Given the description of an element on the screen output the (x, y) to click on. 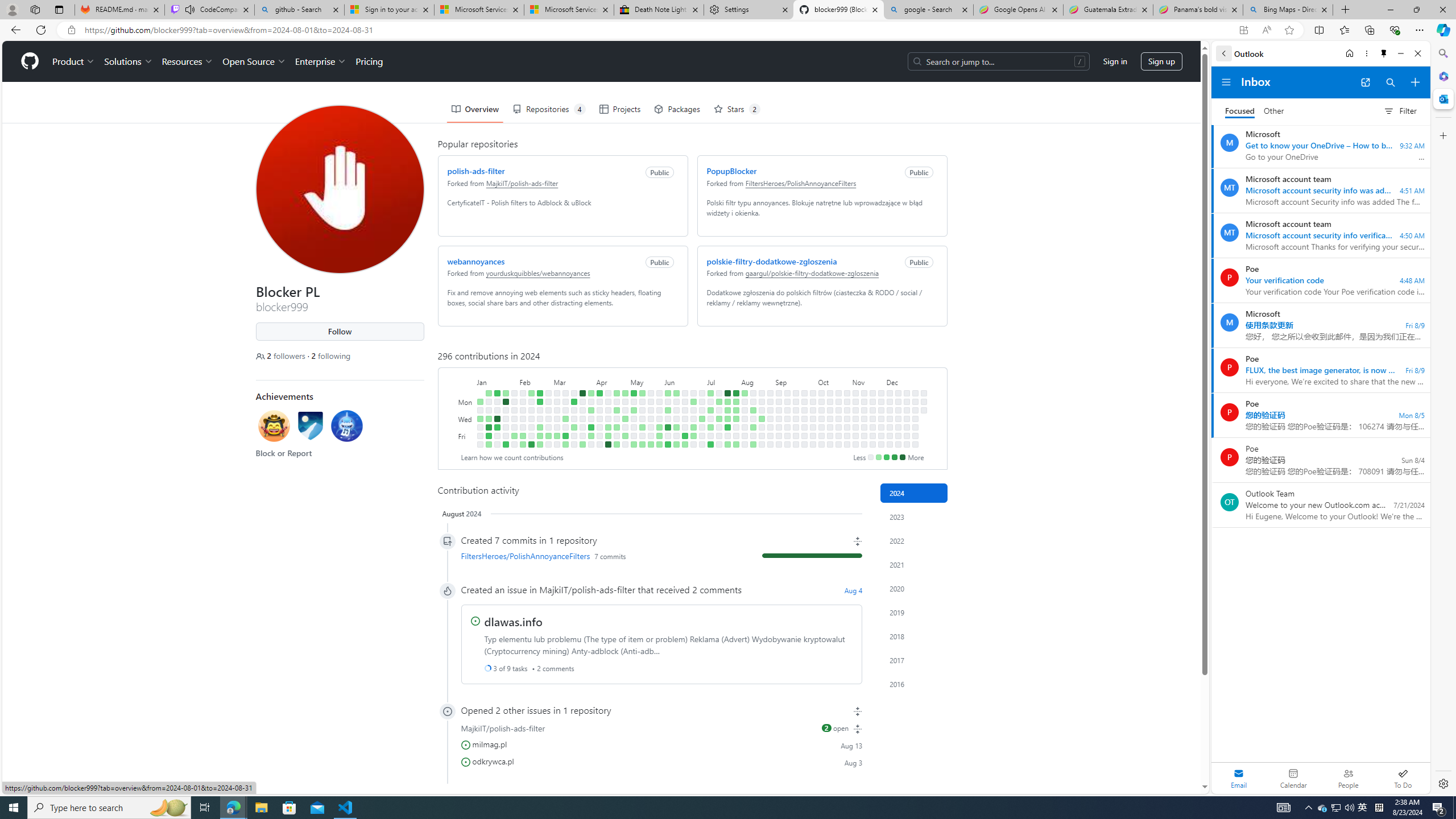
No contributions on July 16th. (718, 410)
6 contributions on January 18th. (496, 427)
No contributions on July 10th. (710, 418)
No contributions on November 6th. (855, 418)
No contributions on September 22nd. (804, 392)
No contributions on February 5th. (522, 401)
No contributions on February 4th. (522, 392)
2016 (913, 683)
No contributions on December 2nd. (889, 401)
No contributions on January 24th. (505, 418)
No contributions on March 22nd. (573, 435)
No contributions on November 2nd. (846, 444)
Created 7 commits in 1 repository (661, 540)
No contributions on February 16th. (530, 435)
